Given the description of an element on the screen output the (x, y) to click on. 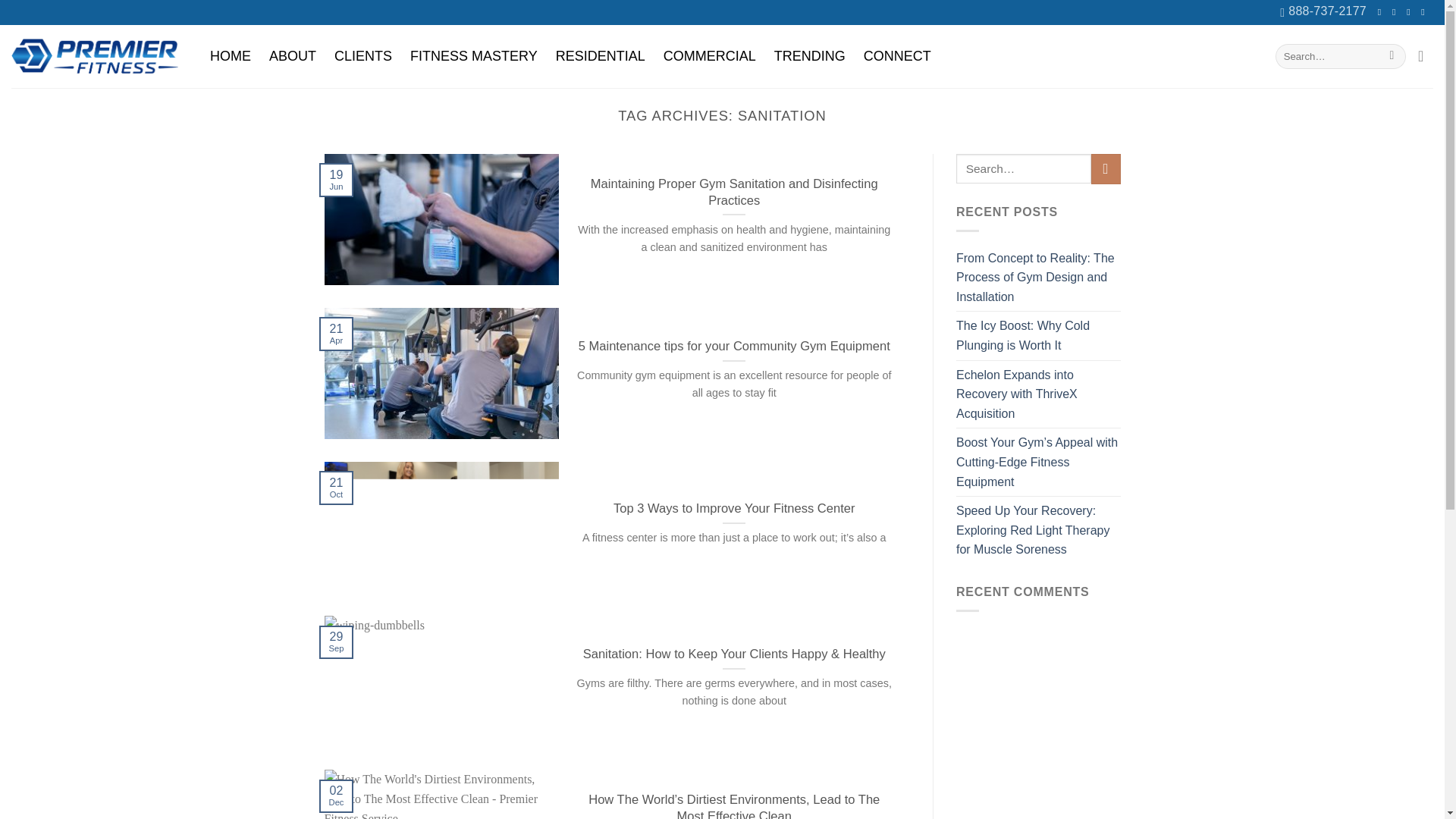
HOME (230, 55)
888-737-2177 (1323, 12)
FITNESS MASTERY (474, 55)
Premier Fitness - Premier Fitness (94, 55)
888-737-2177 (1323, 12)
ABOUT (292, 55)
CLIENTS (362, 55)
